Given the description of an element on the screen output the (x, y) to click on. 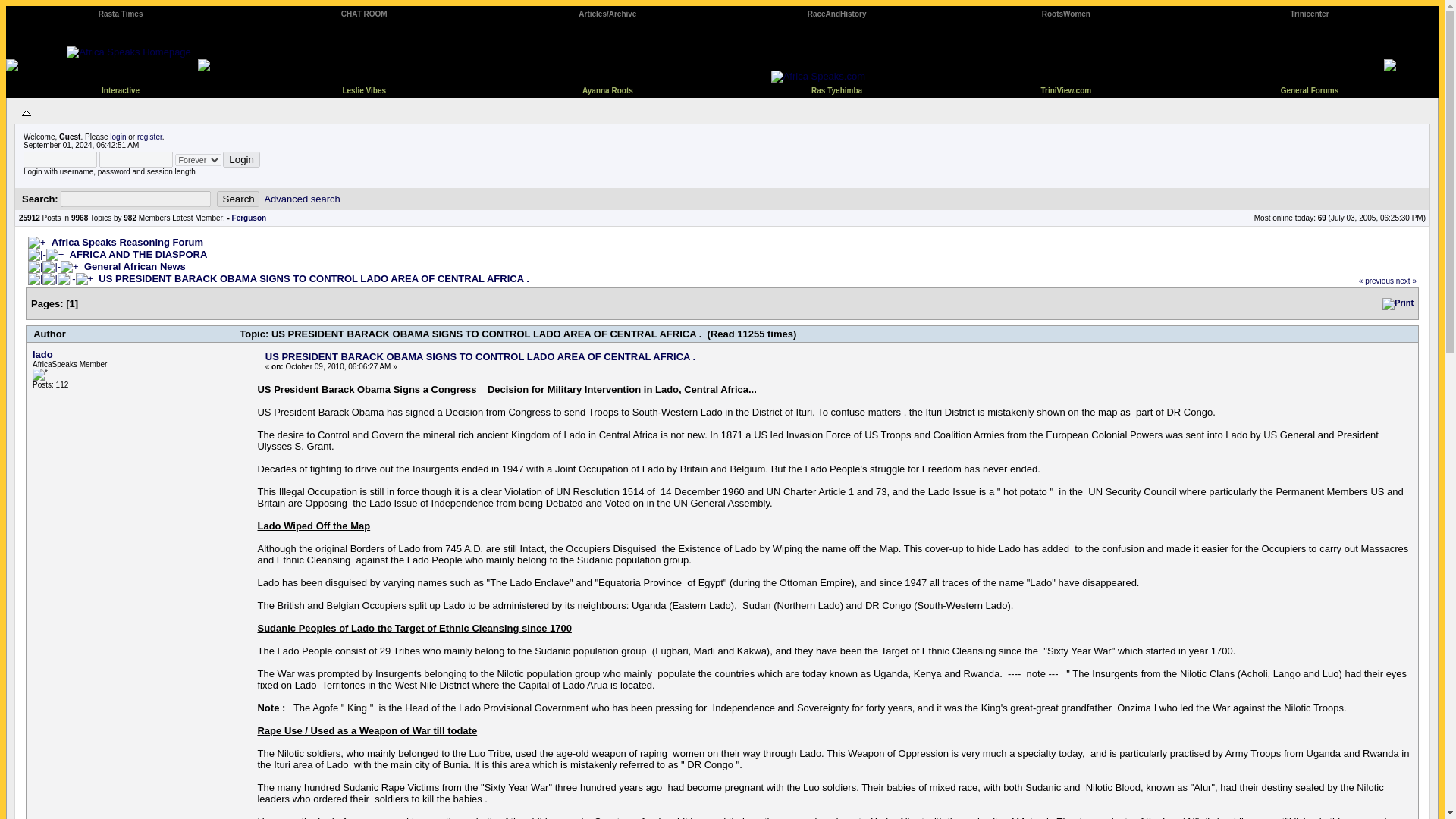
View the profile of lado (42, 354)
Login (241, 159)
Ayanna Roots (607, 89)
Ferguson (248, 217)
Login (241, 159)
Interactive (120, 89)
CHAT ROOM (363, 12)
Search (237, 198)
RaceAndHistory (837, 12)
